Given the description of an element on the screen output the (x, y) to click on. 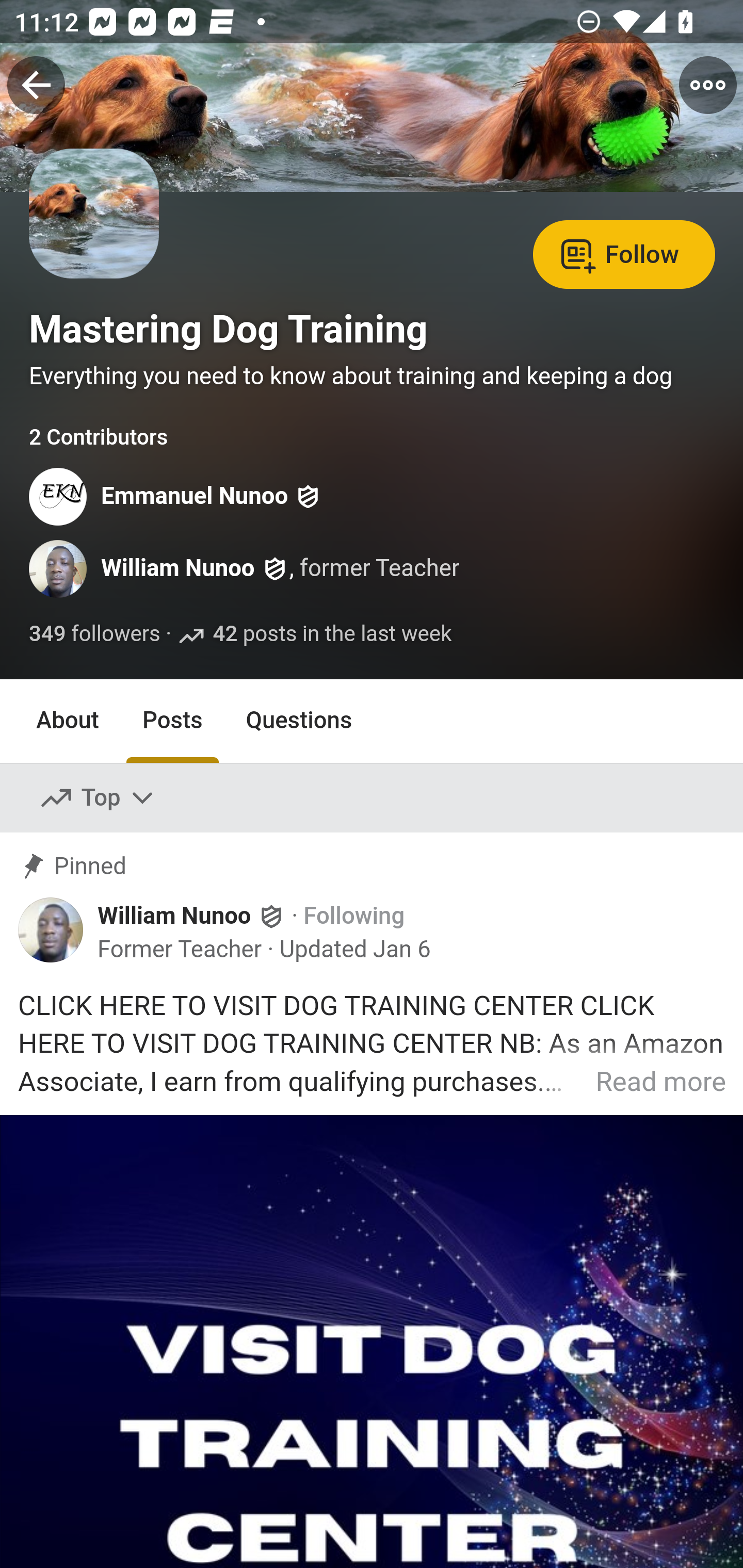
Follow (623, 252)
Mastering Dog Training (227, 329)
Profile photo for Emmanuel Nunoo (58, 496)
Emmanuel Nunoo (195, 496)
Profile photo for William Nunoo (58, 568)
William Nunoo (178, 568)
About (68, 720)
Posts (171, 720)
Questions (299, 720)
Top (97, 797)
Profile photo for William Nunoo (50, 930)
William Nunoo William Nunoo   (191, 914)
